Given the description of an element on the screen output the (x, y) to click on. 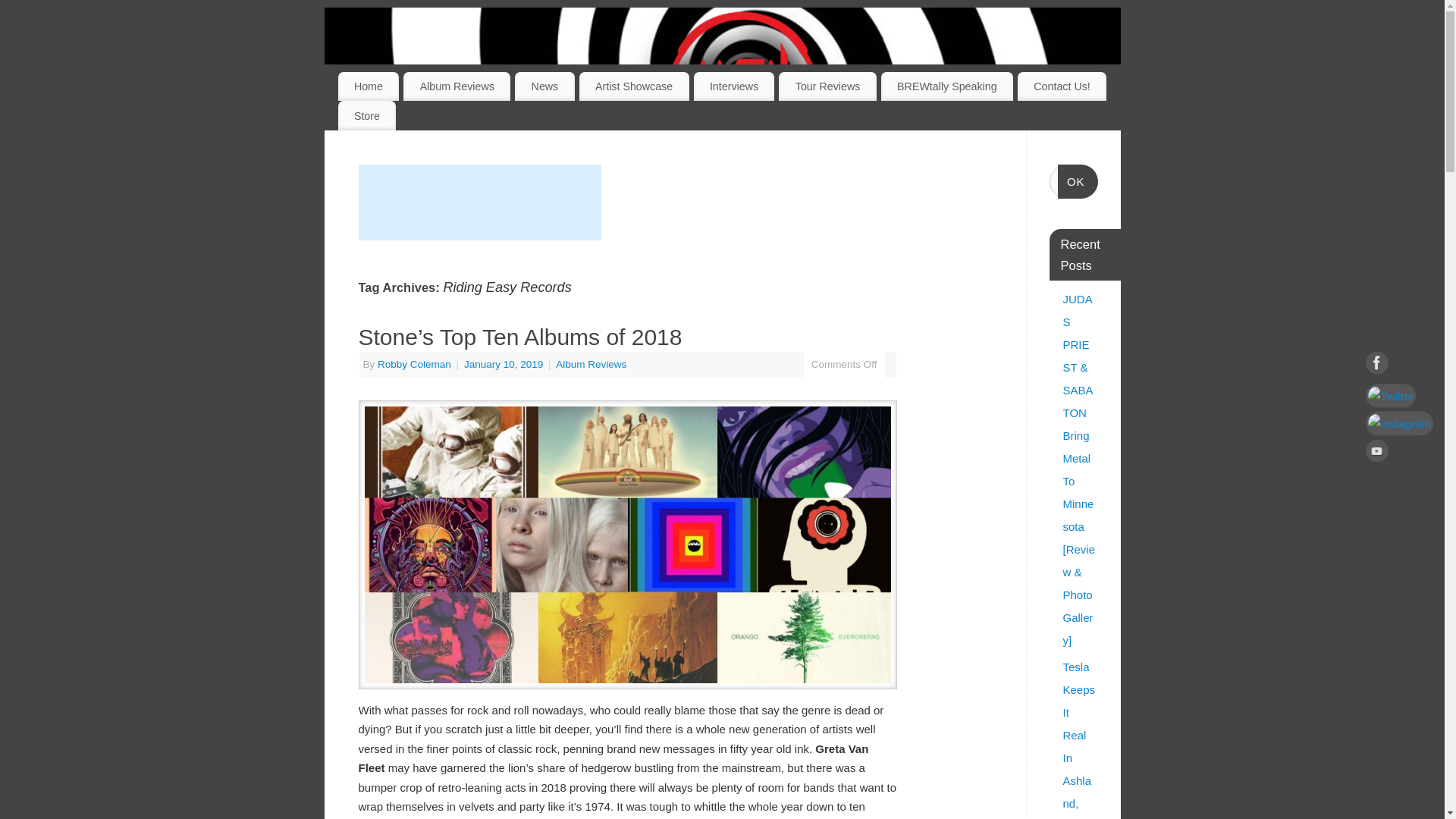
Robby Coleman (414, 364)
BREWtally Speaking (946, 86)
Artist Showcase (633, 86)
Metal Nexus (741, 82)
January 10, 2019 (505, 364)
Contact Us! (1061, 86)
Album Reviews (457, 86)
Home (367, 86)
Tour Reviews (827, 86)
News (544, 86)
